Given the description of an element on the screen output the (x, y) to click on. 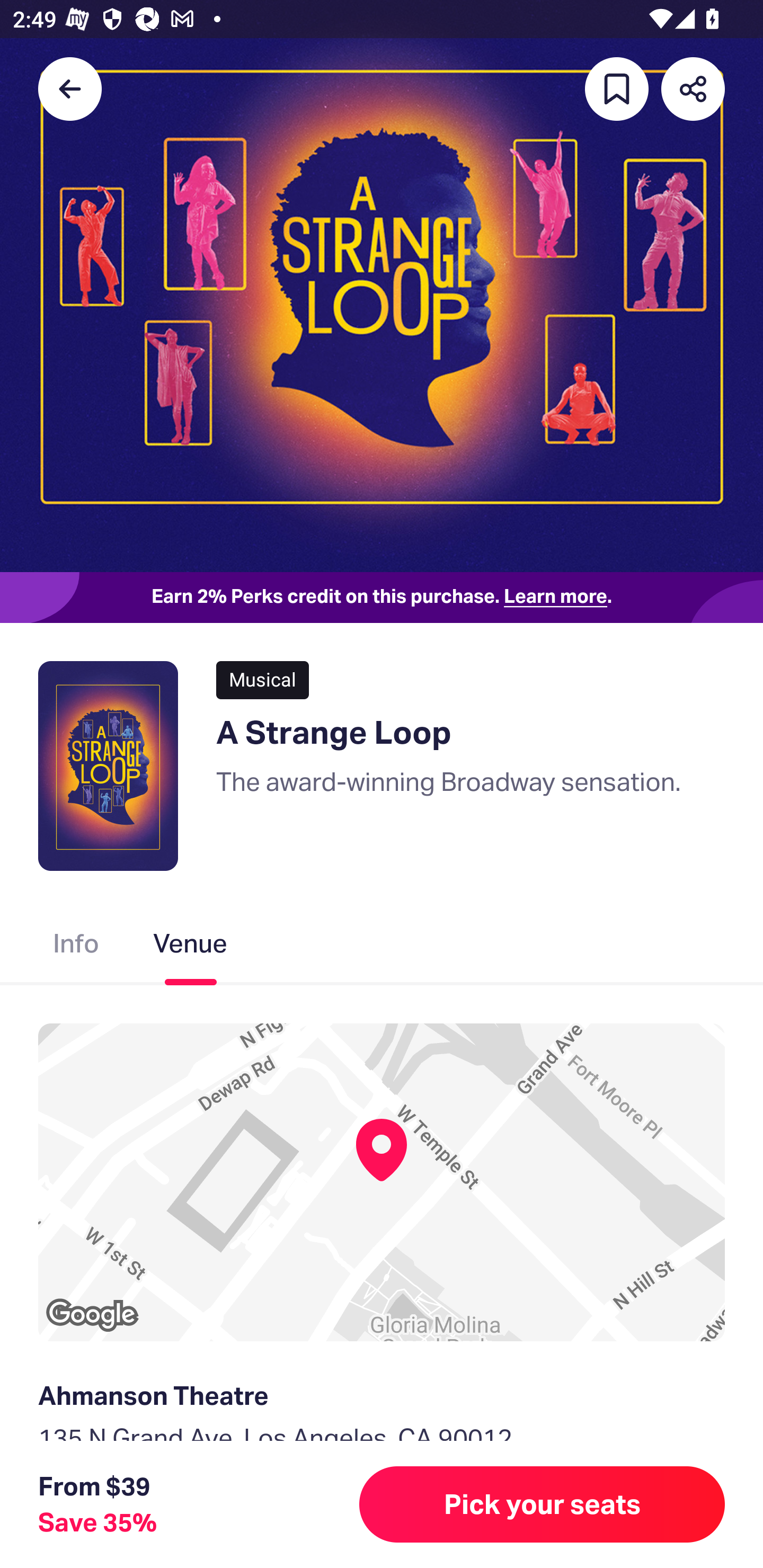
Earn 2% Perks credit on this purchase. Learn more. (381, 597)
Info (76, 946)
Google Map Ahmanson Theatre.  (381, 1181)
Pick your seats (541, 1504)
